Given the description of an element on the screen output the (x, y) to click on. 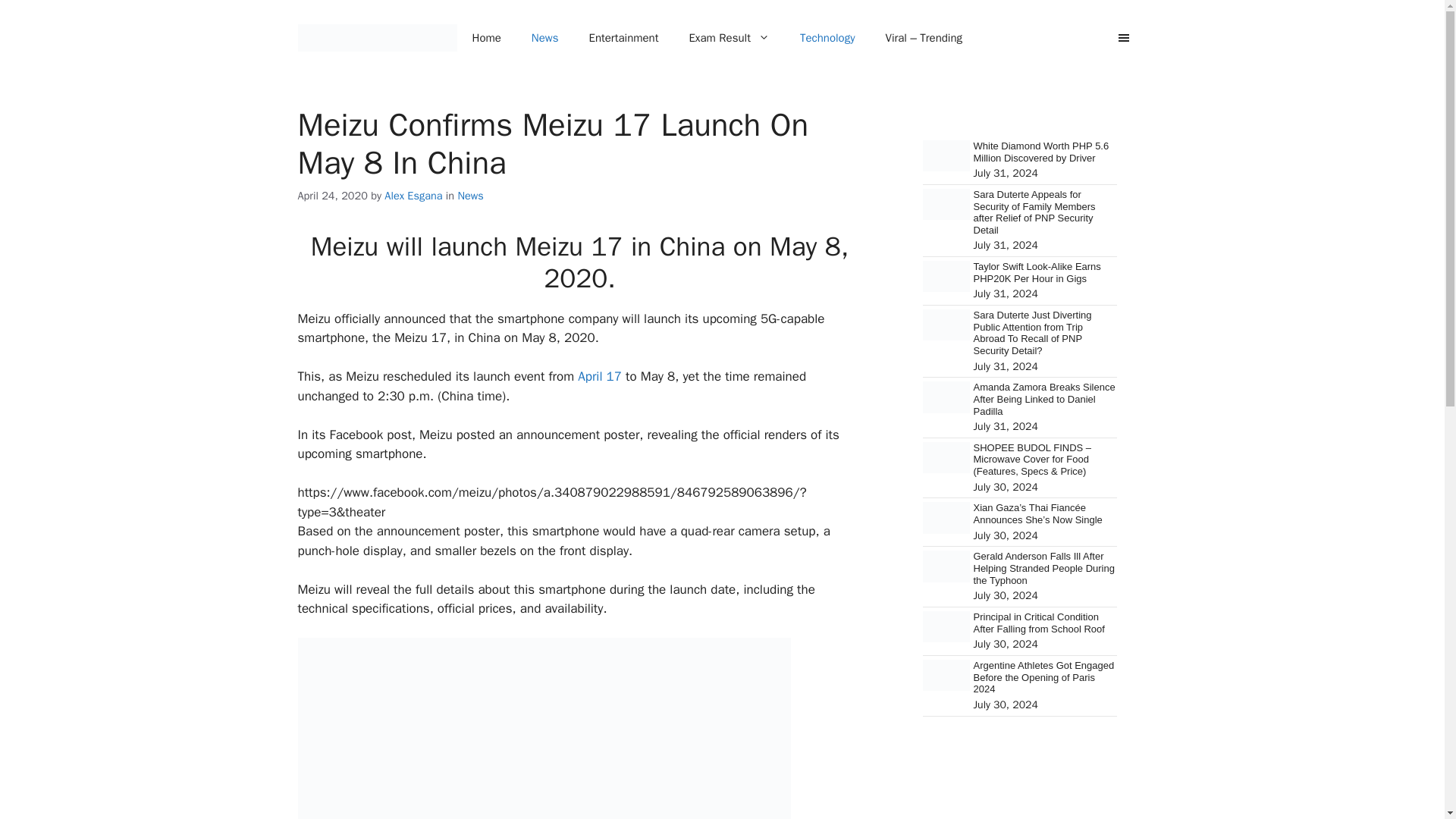
Exam Result (728, 37)
News (544, 37)
Entertainment (623, 37)
View all posts by Alex Esgana (413, 195)
Home (486, 37)
